Given the description of an element on the screen output the (x, y) to click on. 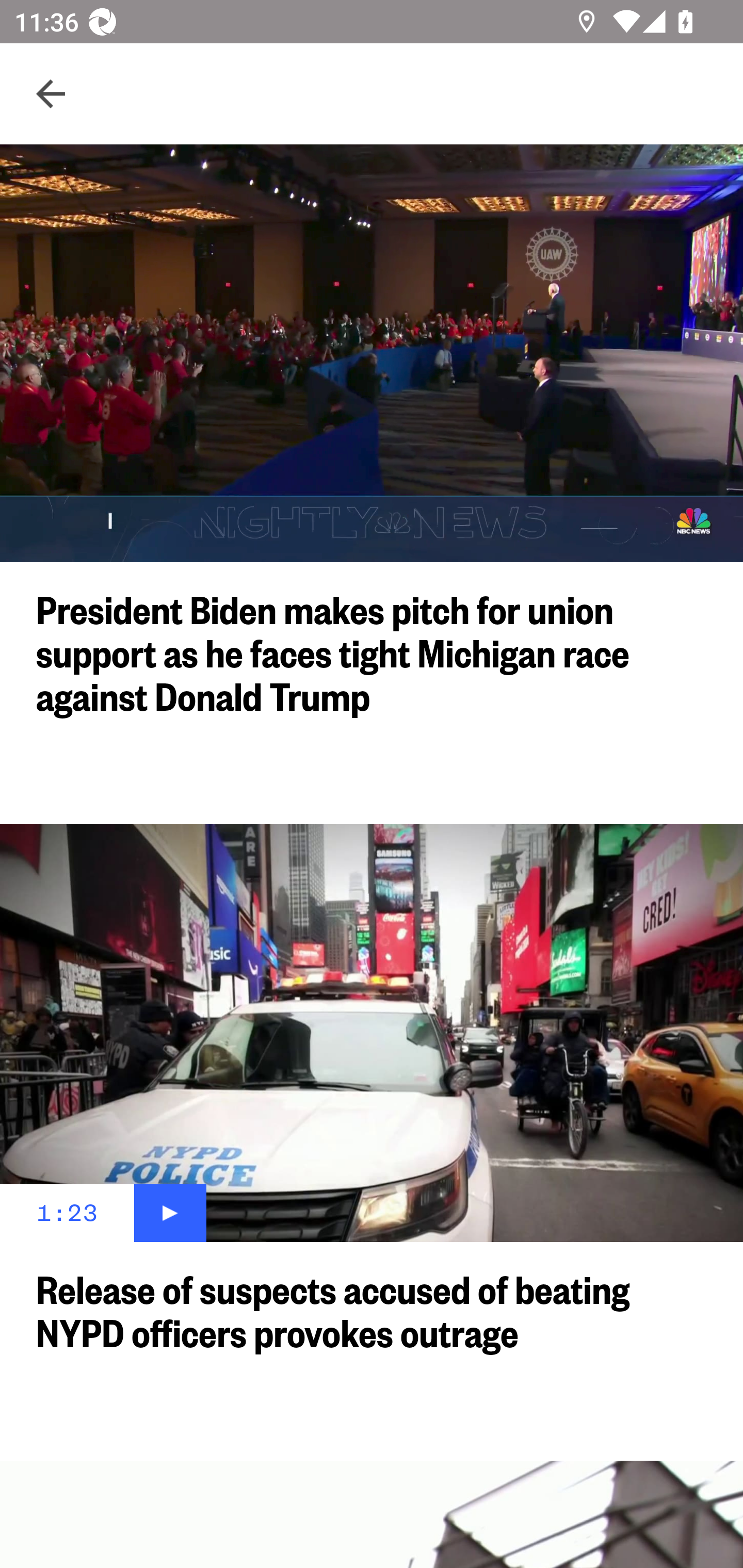
Navigate up (50, 93)
